Given the description of an element on the screen output the (x, y) to click on. 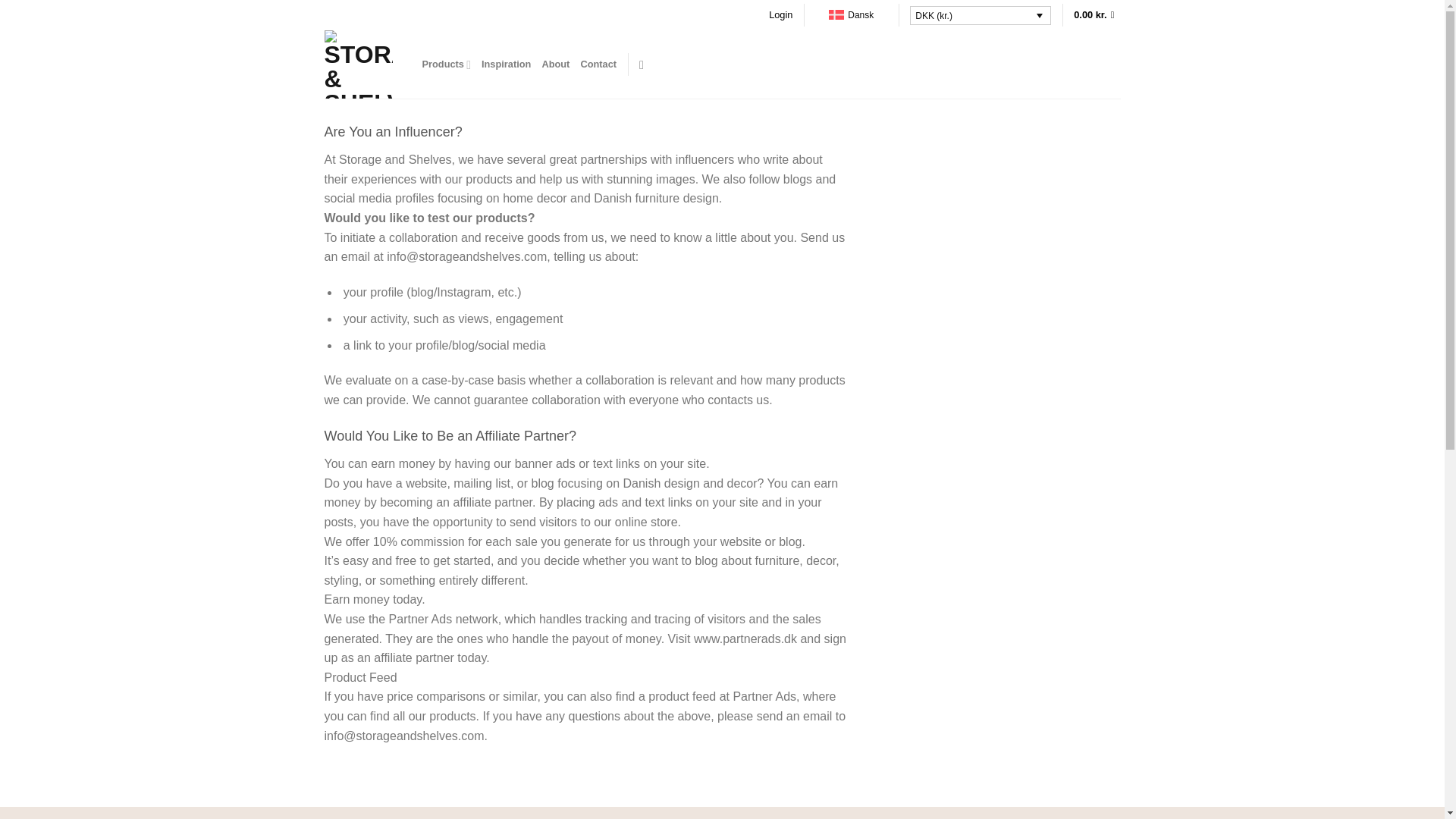
About (555, 63)
0.00 kr. (1096, 14)
Login (780, 14)
Cart (1096, 14)
Inspiration (506, 63)
Contact (597, 63)
Login (780, 14)
Products (446, 64)
Dansk (850, 14)
